Given the description of an element on the screen output the (x, y) to click on. 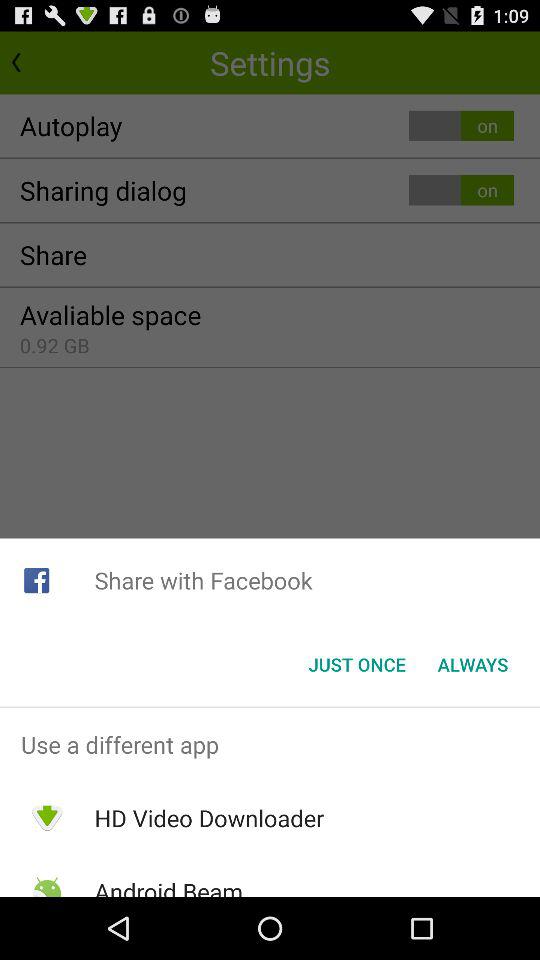
press the android beam app (168, 885)
